Given the description of an element on the screen output the (x, y) to click on. 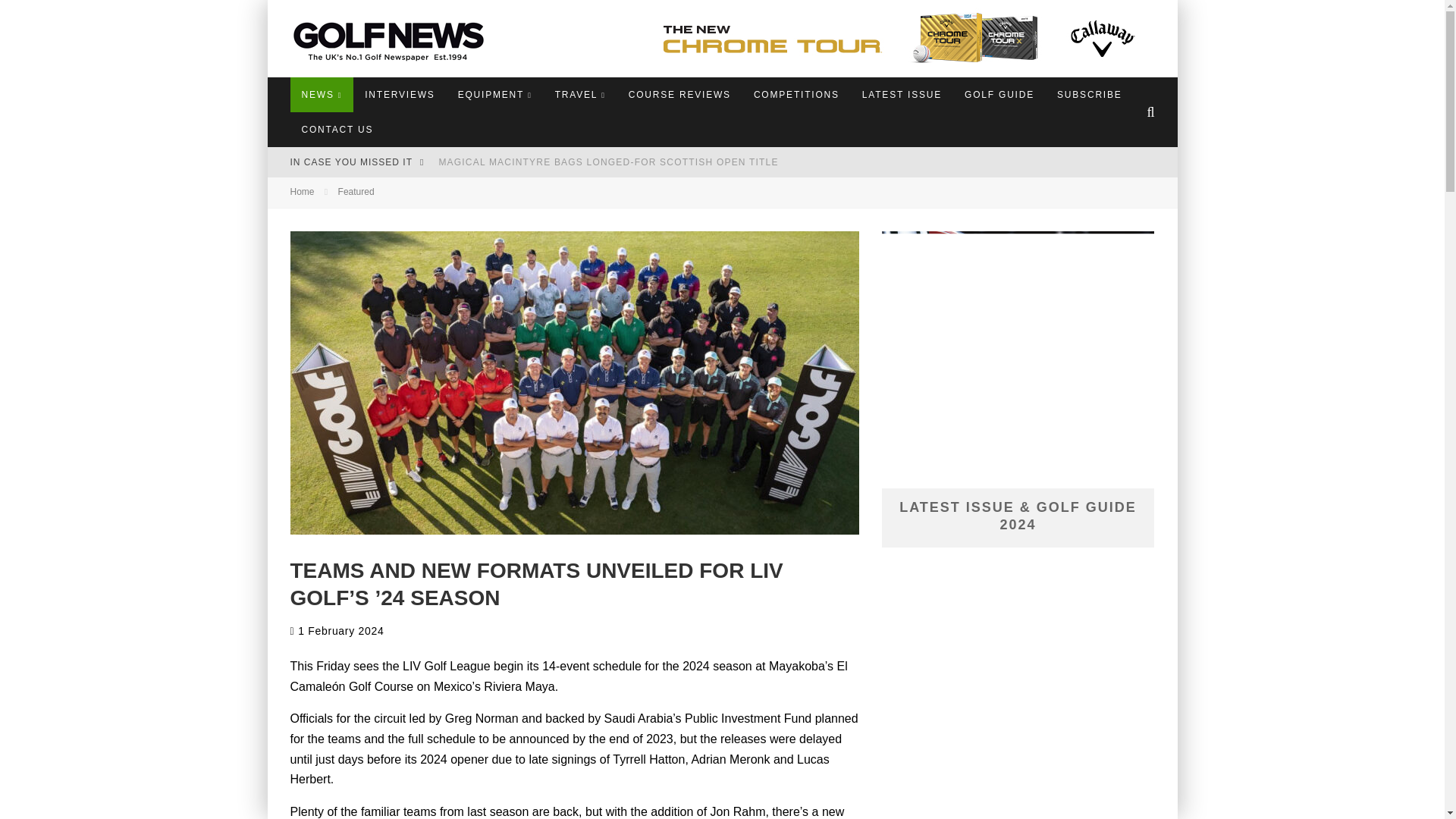
EQUIPMENT (494, 94)
Magical MacIntyre bags longed-for Scottish Open title (607, 162)
NEWS (321, 94)
INTERVIEWS (399, 94)
COURSE REVIEWS (679, 94)
TRAVEL (580, 94)
